Given the description of an element on the screen output the (x, y) to click on. 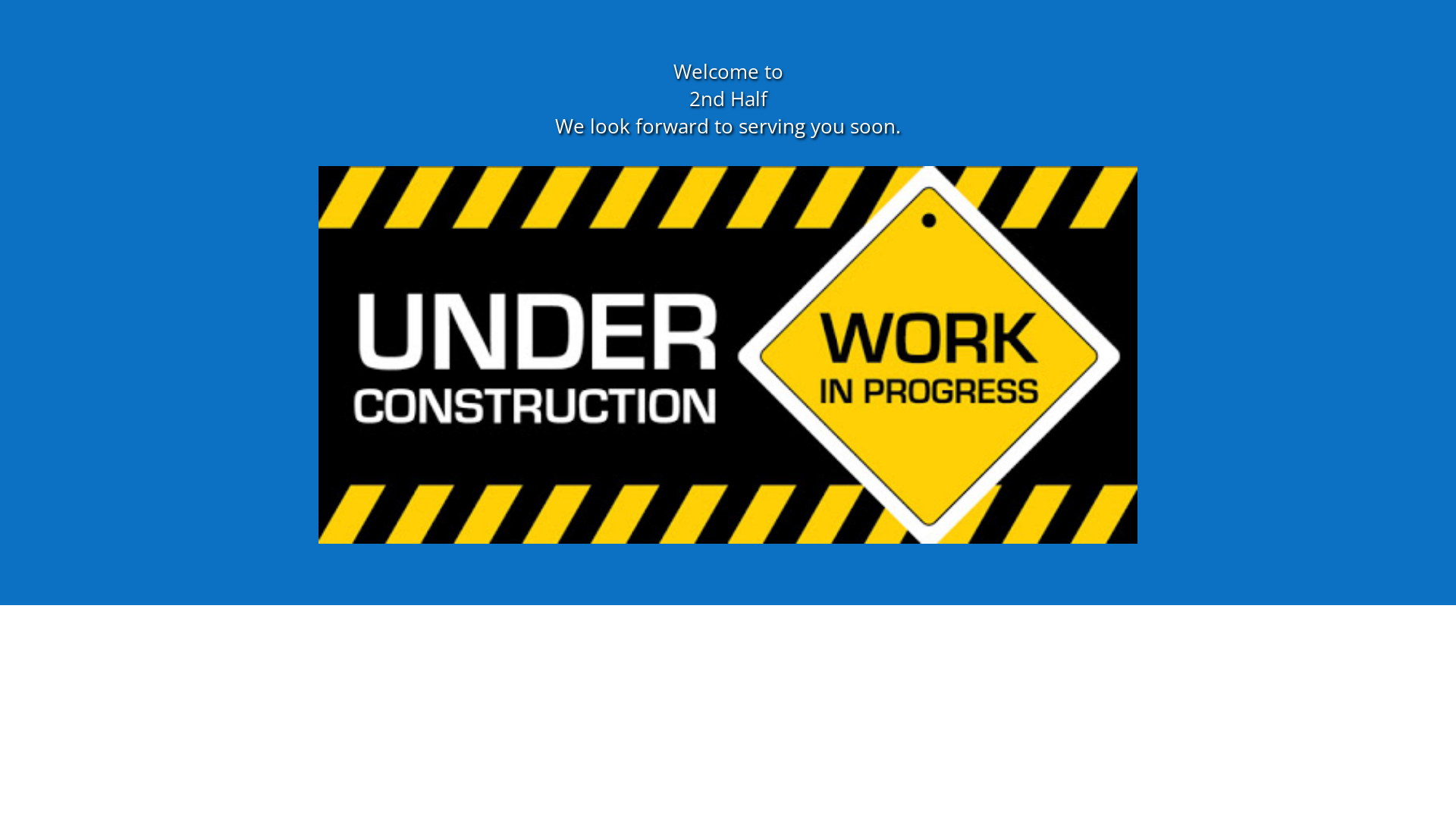
unnamed Element type: hover (727, 354)
